Given the description of an element on the screen output the (x, y) to click on. 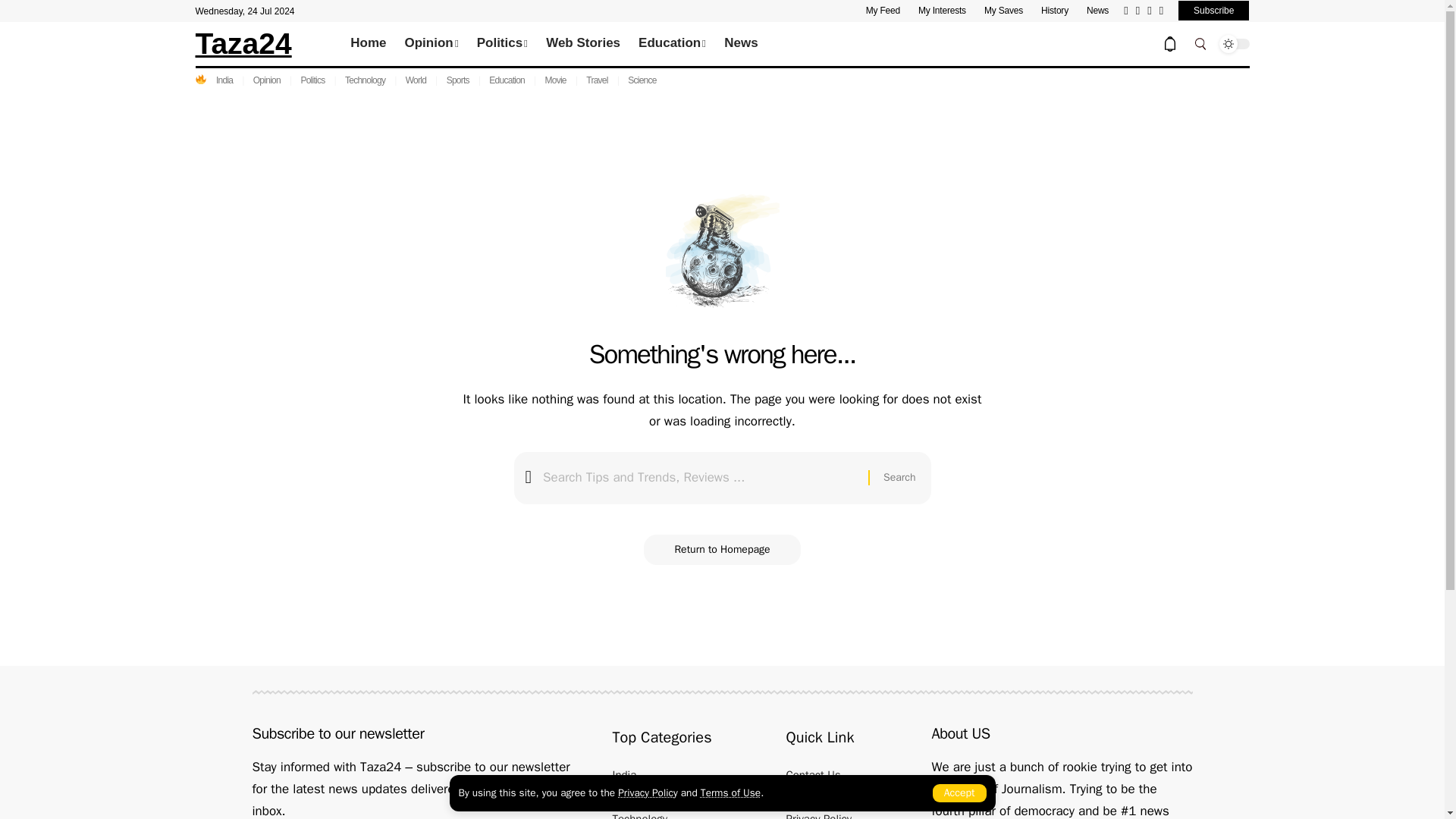
Taza24 (243, 43)
Home (367, 43)
My Interests (942, 10)
Subscribe (1213, 10)
My Feed (882, 10)
Accept (960, 792)
News (1097, 10)
Search (899, 478)
Terms of Use (730, 792)
My Saves (1003, 10)
History (1054, 10)
Web Stories (582, 43)
Opinion (431, 43)
Privacy Policy (647, 792)
